Given the description of an element on the screen output the (x, y) to click on. 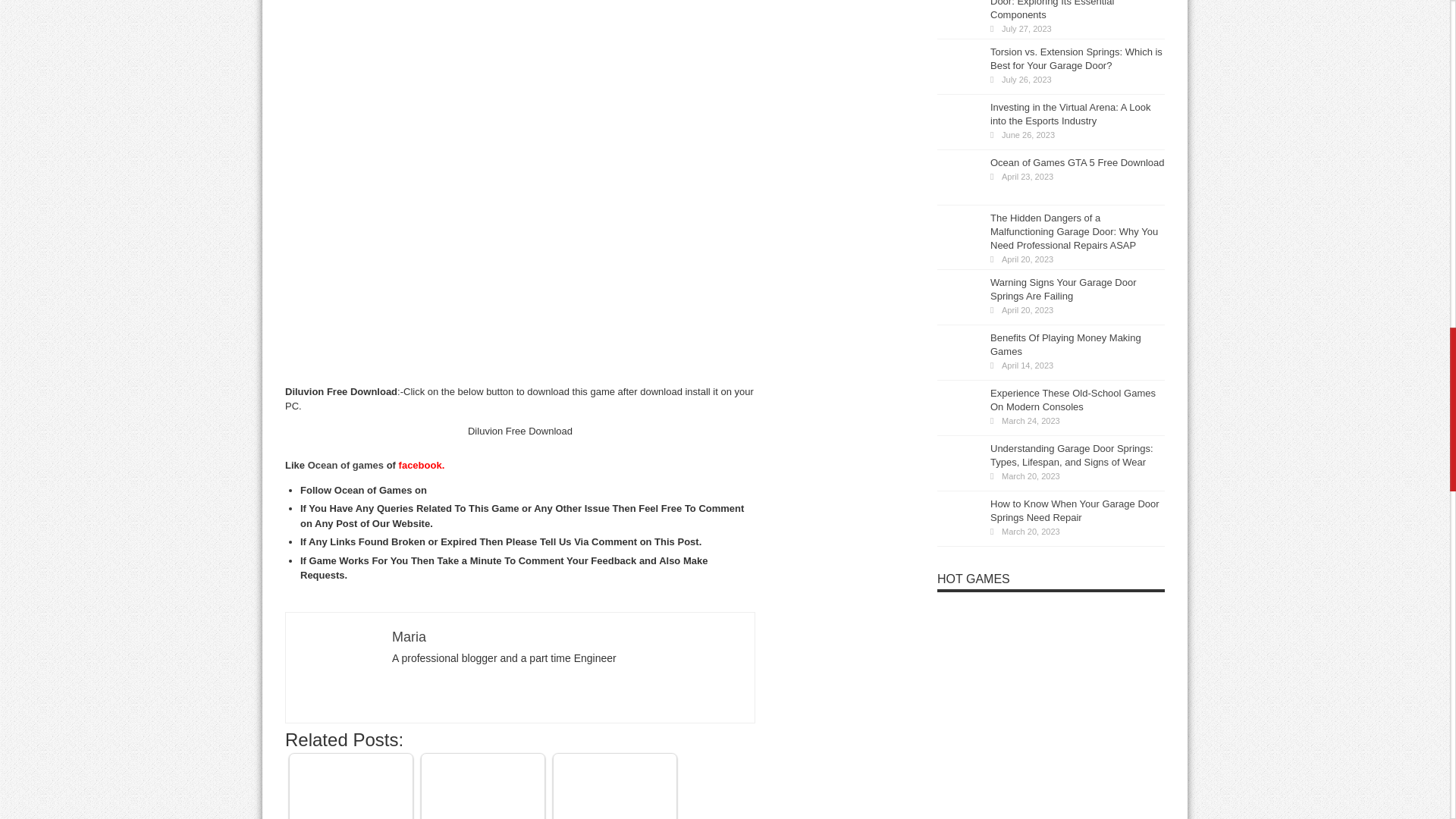
Diluvion Free Download (339, 665)
Kingdom Come: Deliverance free download (614, 788)
Ocean of Games GTA 5 Free Download (350, 788)
Ocean of Games GTA (483, 788)
Maria (408, 636)
Ocean of Games GTA (483, 788)
Ocean of games (345, 464)
facebook. (421, 464)
Ocean of Games GTA 5 Free Download (350, 788)
Kingdom Come: Deliverance free download (614, 786)
